Given the description of an element on the screen output the (x, y) to click on. 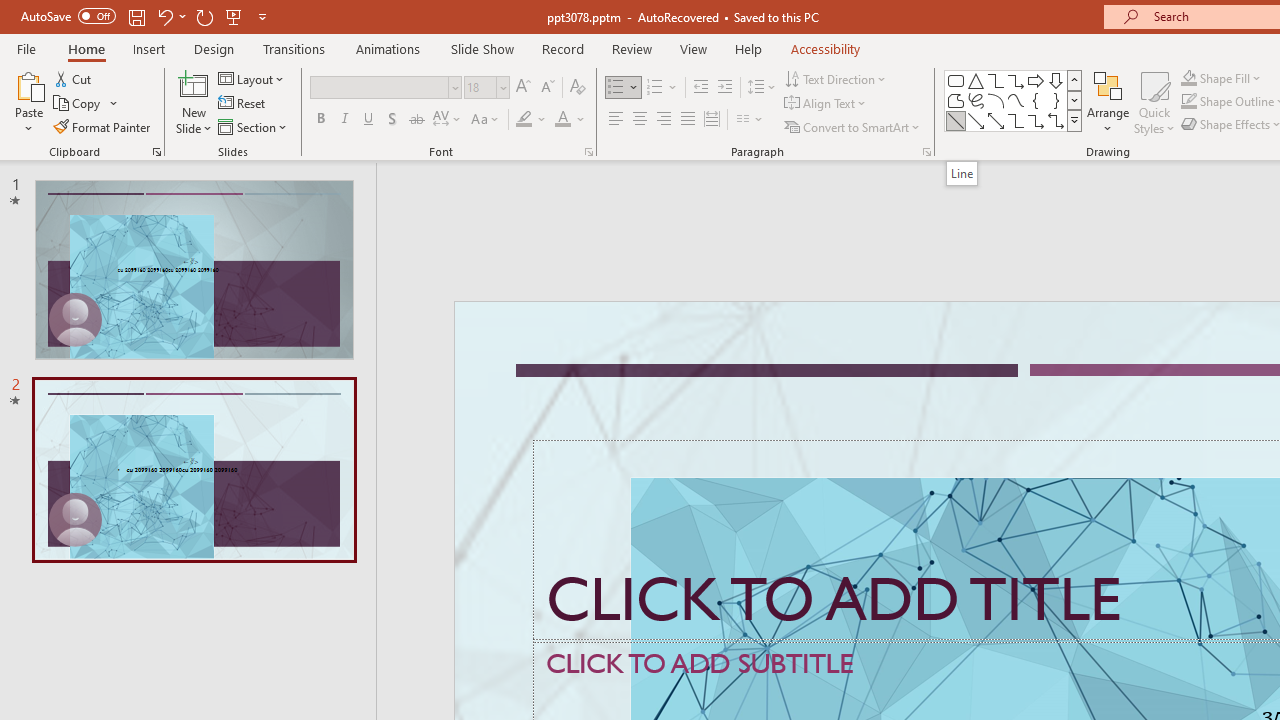
Columns (750, 119)
Align Left (616, 119)
New Slide (193, 102)
File Tab (26, 48)
Connector: Elbow Double-Arrow (1055, 120)
Numbering (661, 87)
Shape Outline Green, Accent 1 (1188, 101)
Numbering (654, 87)
Slide Show (481, 48)
Review (631, 48)
Redo (204, 15)
Class: NetUIImage (1075, 120)
Isosceles Triangle (975, 80)
Font Color (569, 119)
Transitions (294, 48)
